Given the description of an element on the screen output the (x, y) to click on. 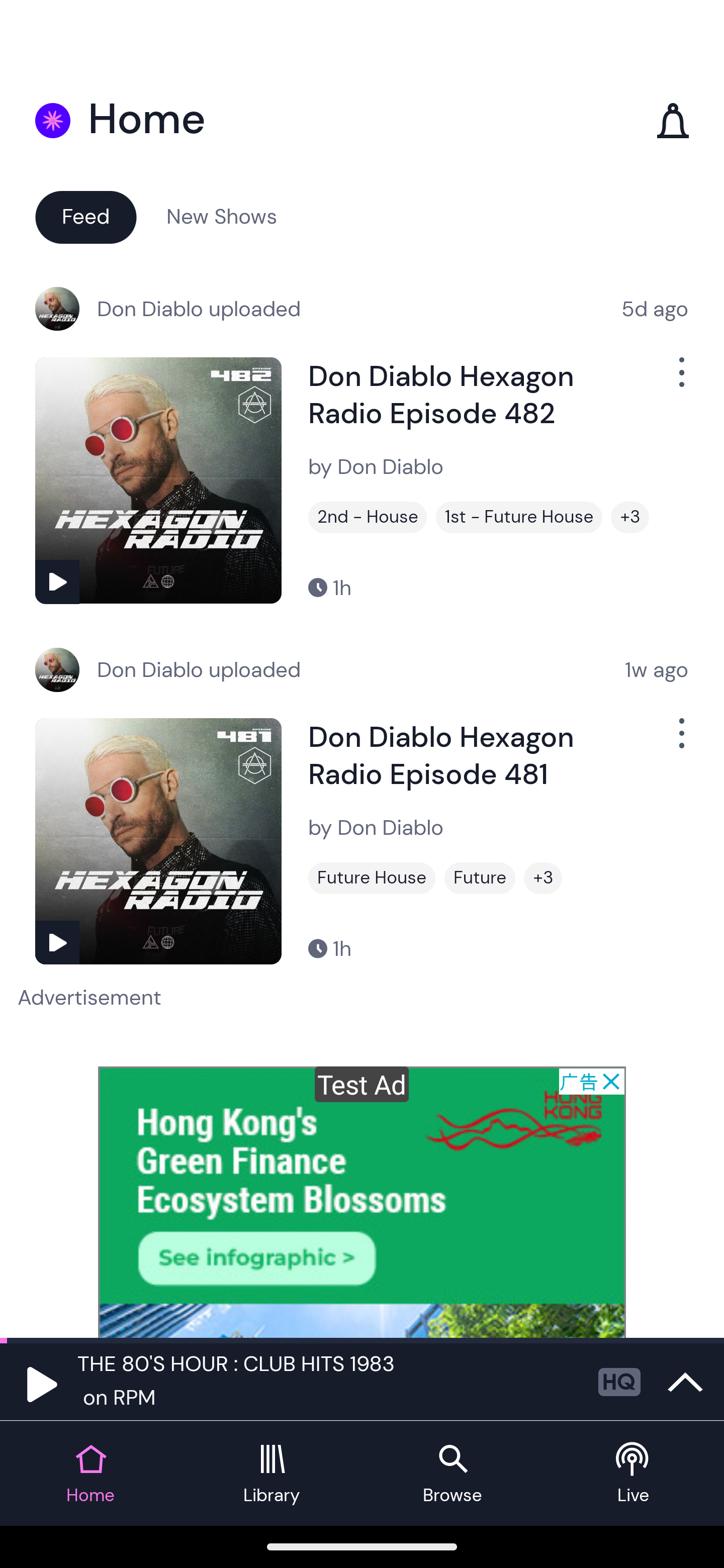
Feed (85, 216)
New Shows (221, 216)
Show Options Menu Button (679, 379)
2nd - House (367, 517)
1st - Future House (518, 517)
Show Options Menu Button (679, 740)
Future House (371, 877)
Future (479, 877)
Advertisement (361, 1201)
Home tab Home (90, 1473)
Library tab Library (271, 1473)
Browse tab Browse (452, 1473)
Live tab Live (633, 1473)
